Given the description of an element on the screen output the (x, y) to click on. 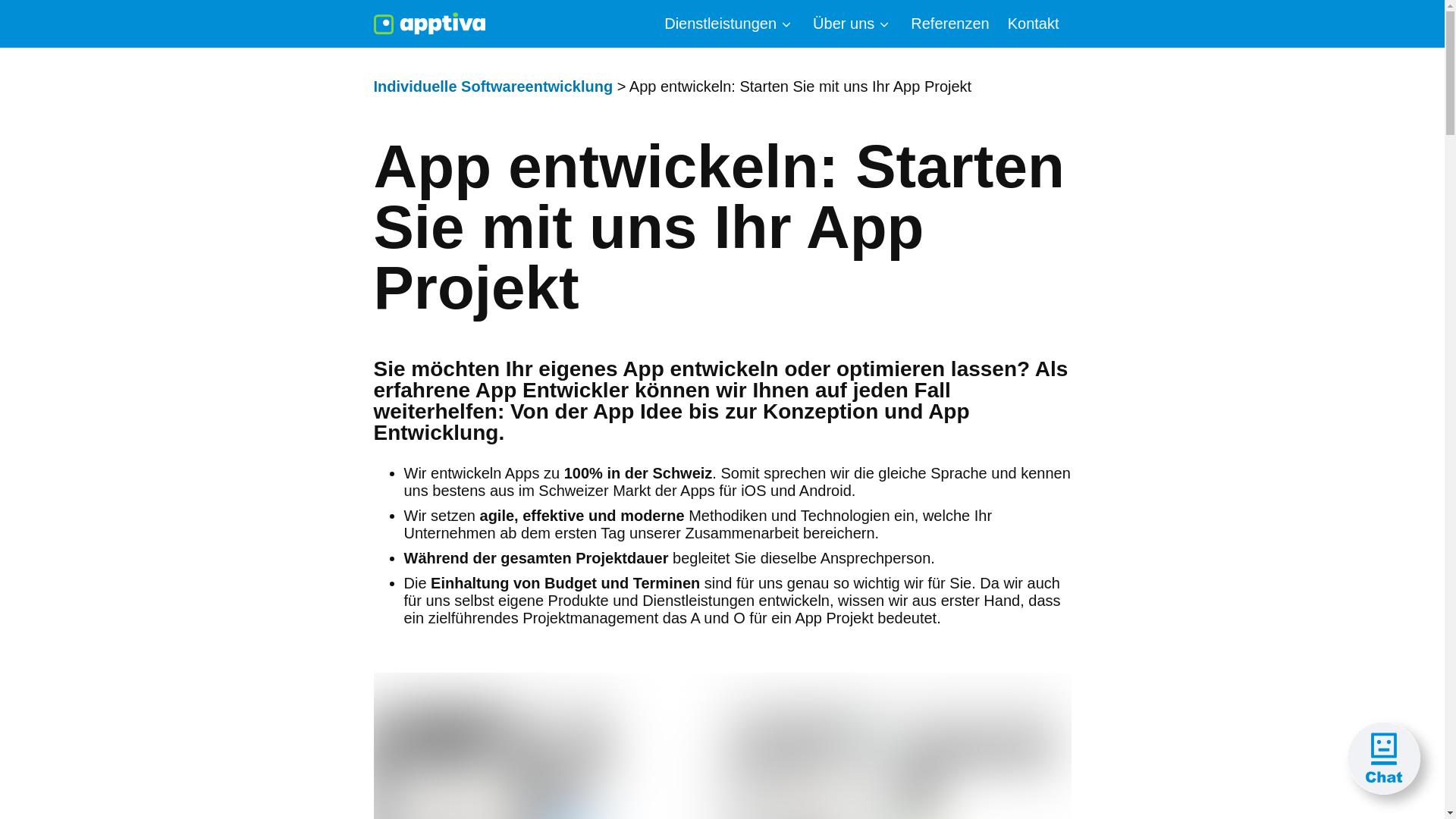
Dienstleistungen Element type: text (729, 23)
Referenzen Element type: text (949, 23)
Kontakt Element type: text (1033, 23)
Individuelle Softwareentwicklung Element type: text (492, 86)
